Given the description of an element on the screen output the (x, y) to click on. 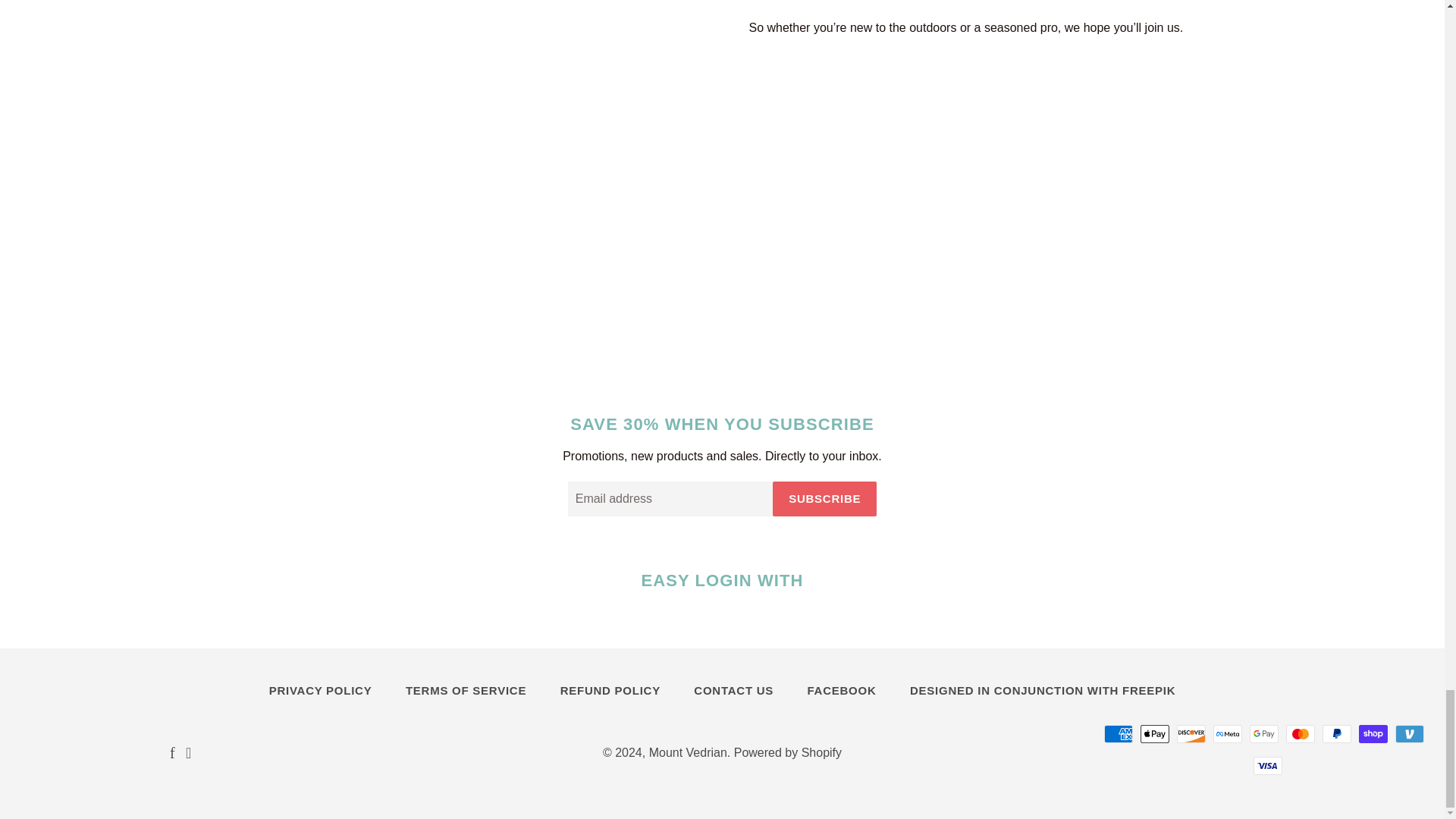
Shop Pay (1372, 733)
REFUND POLICY (609, 689)
CONTACT US (733, 689)
Mastercard (1299, 733)
Discover (1190, 733)
FACEBOOK (841, 689)
PRIVACY POLICY (320, 689)
Facebook (172, 753)
Mount Vedrian on Instagram (188, 753)
Visa (1267, 765)
Instagram (188, 753)
PayPal (1336, 733)
Meta Pay (1226, 733)
Apple Pay (1154, 733)
DESIGNED IN CONJUNCTION WITH FREEPIK (1043, 689)
